Given the description of an element on the screen output the (x, y) to click on. 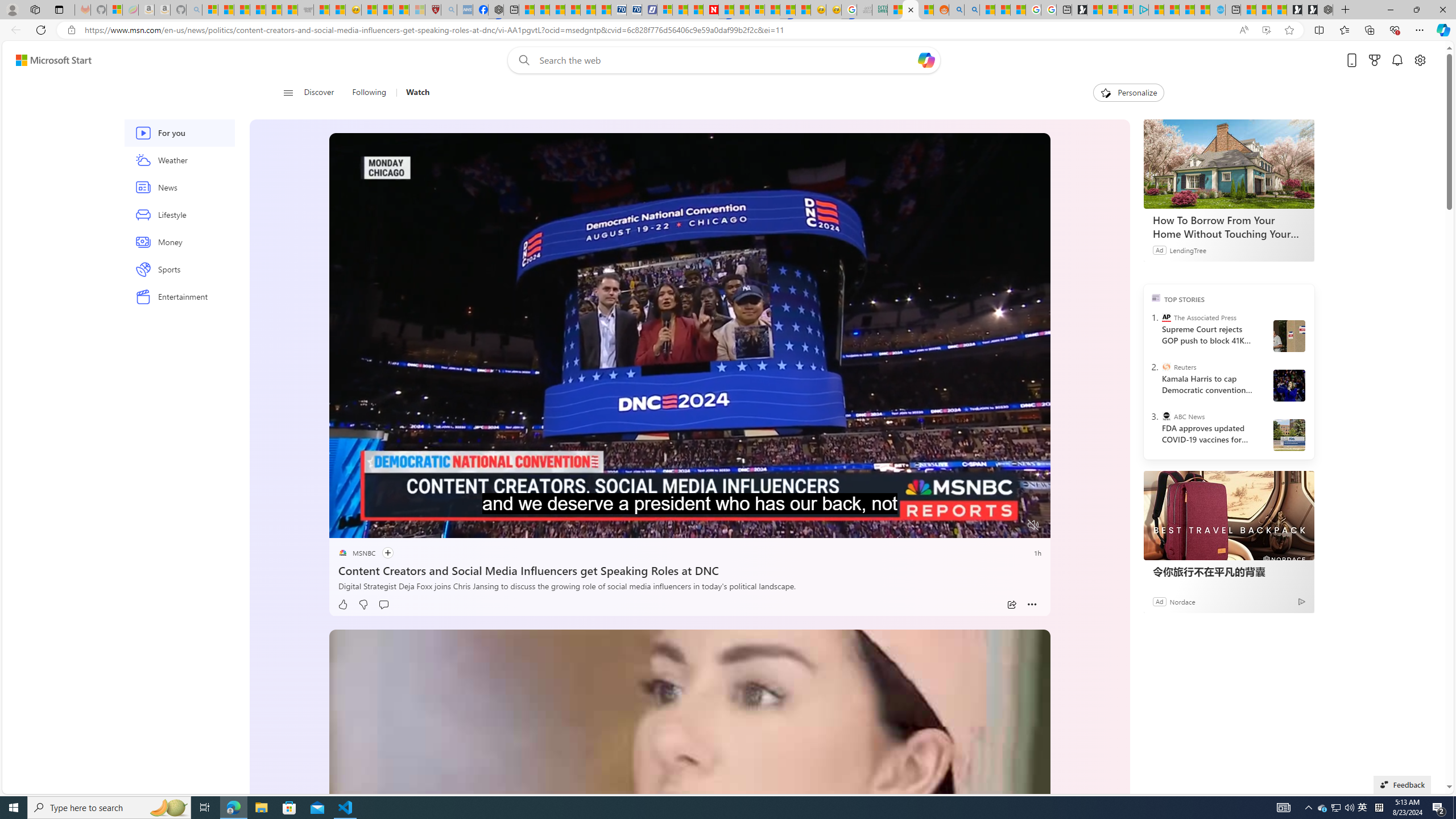
12 Popular Science Lies that Must be Corrected - Sleeping (416, 9)
Fullscreen (1011, 525)
Seek Back (368, 525)
 Harris and Walz campaign in Wisconsin (1288, 385)
